Given the description of an element on the screen output the (x, y) to click on. 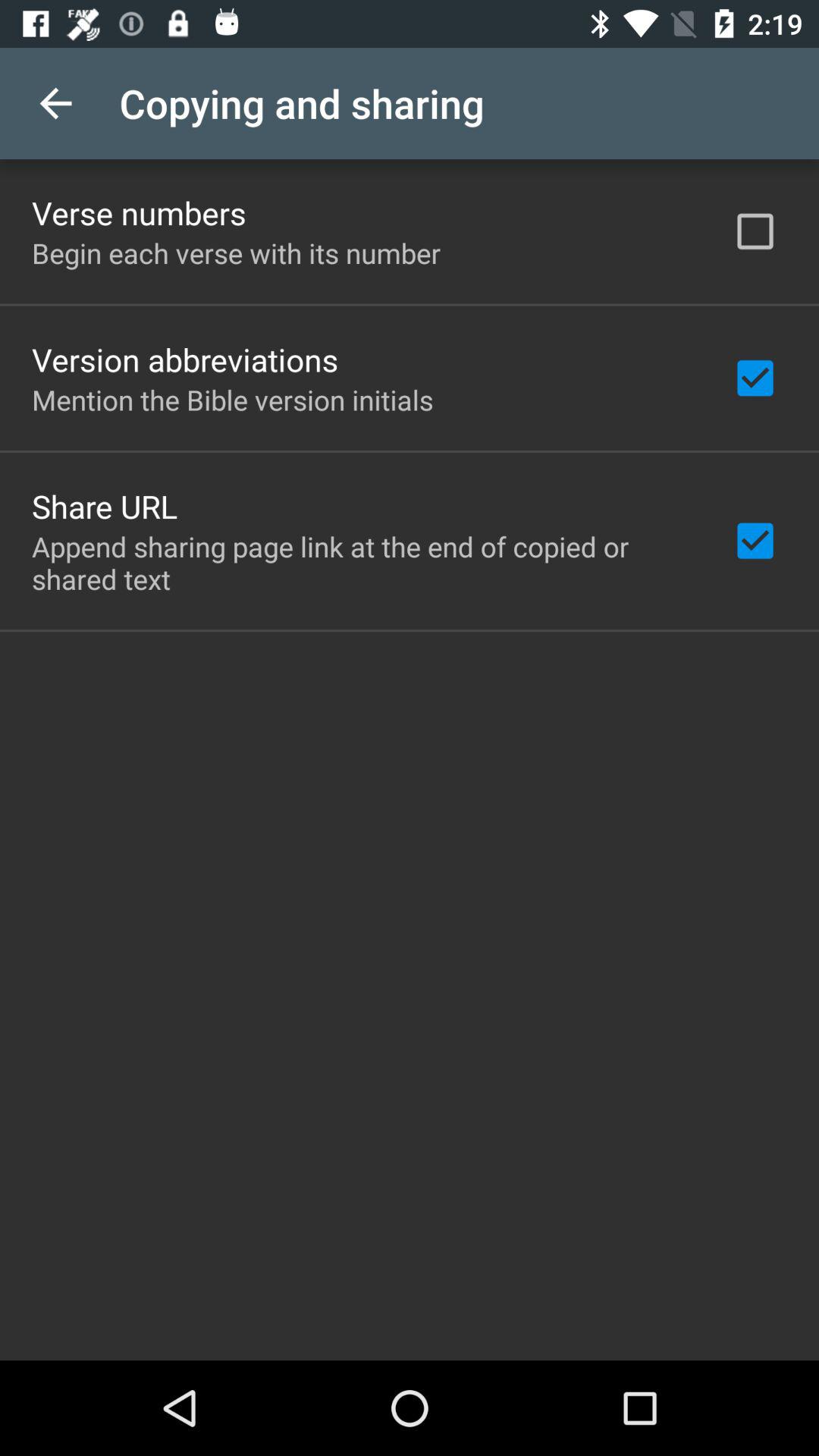
turn on the item above the version abbreviations (235, 252)
